Given the description of an element on the screen output the (x, y) to click on. 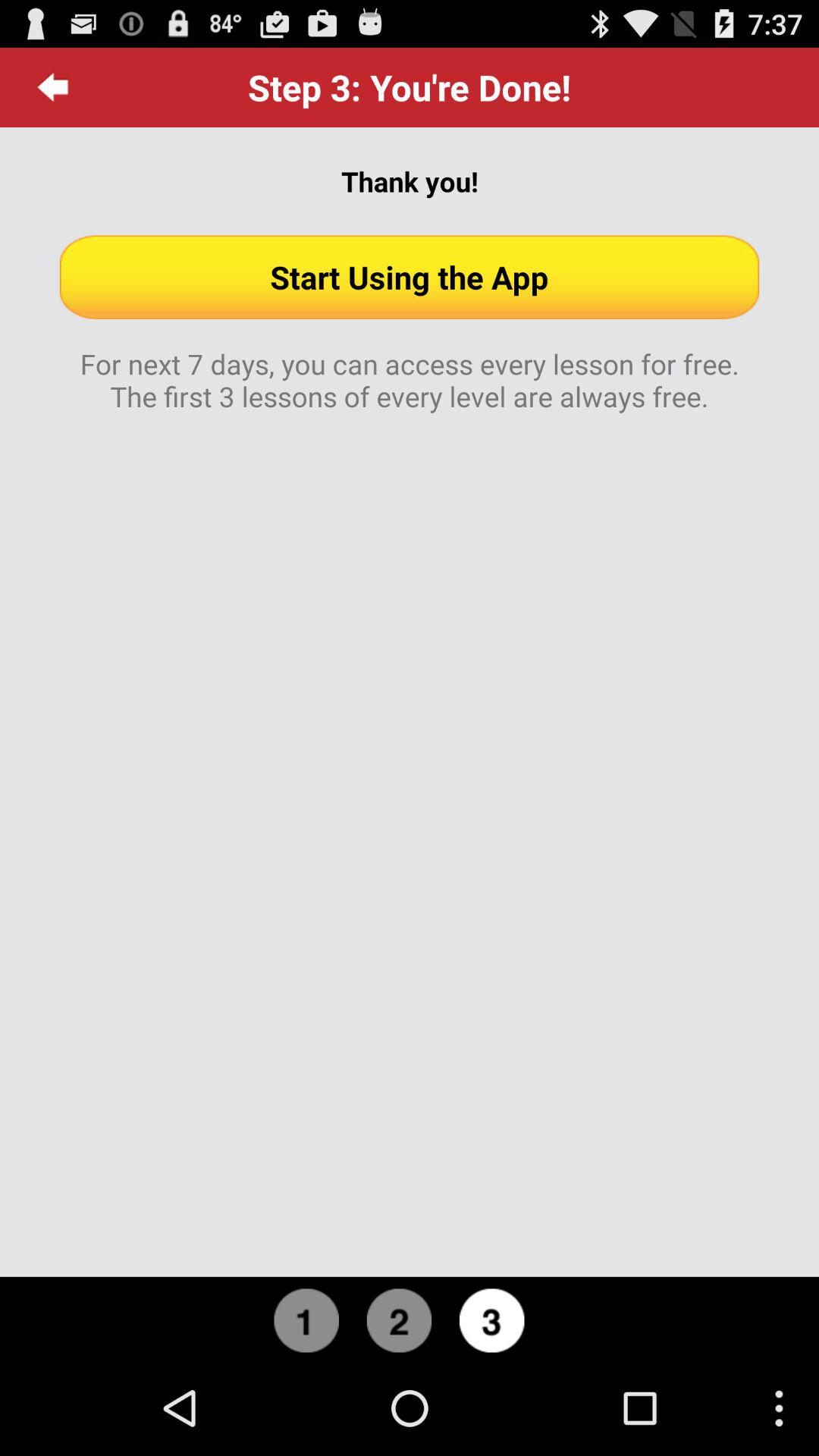
select the app below thank you! icon (409, 277)
